Given the description of an element on the screen output the (x, y) to click on. 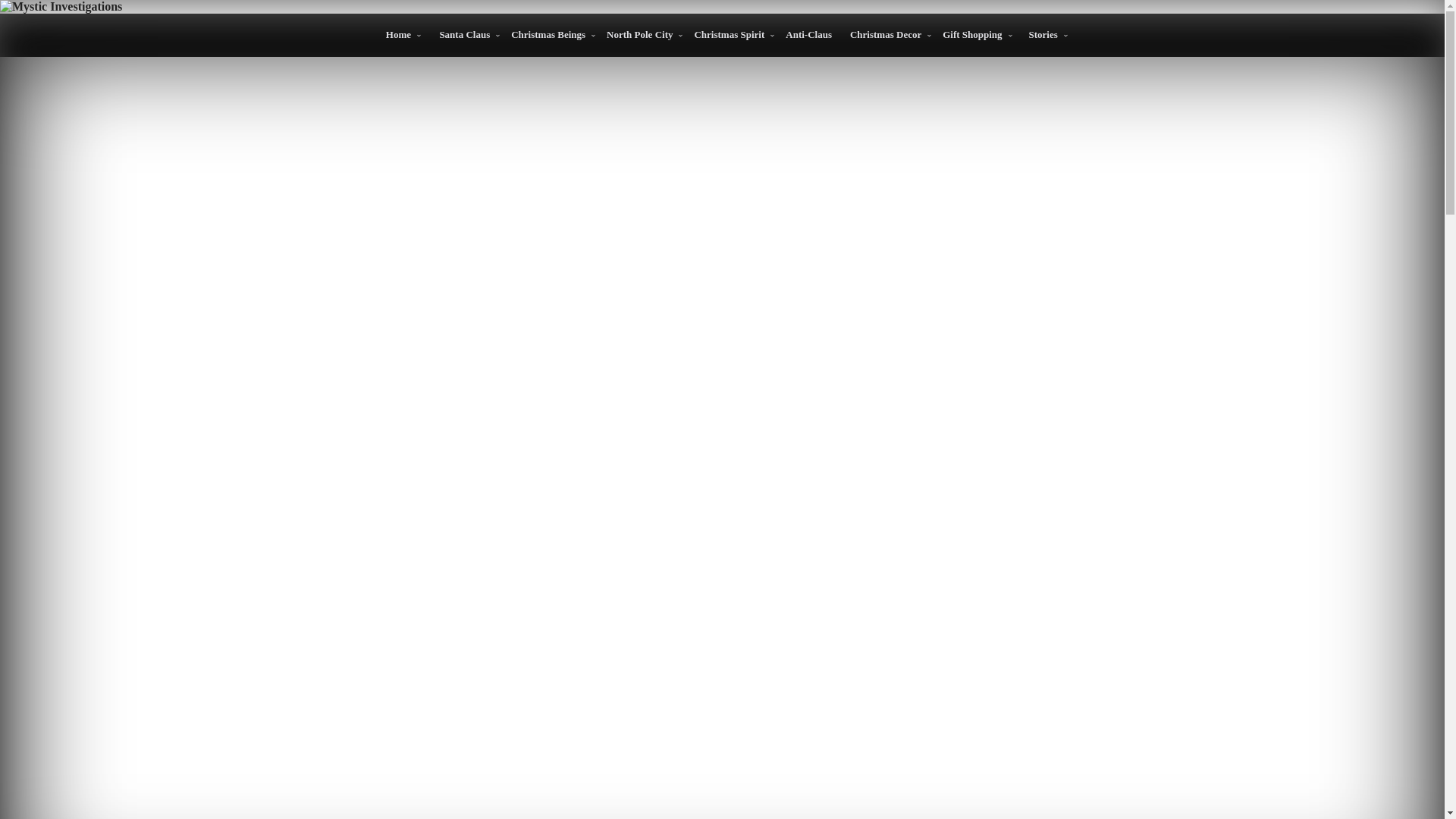
Christmas Spirit (730, 34)
Christmas Decor (887, 34)
Christmas Beings (549, 34)
Anti-Claus (808, 34)
Home (399, 34)
North Pole City (640, 34)
Santa Claus (465, 34)
Gift Shopping (973, 34)
